Given the description of an element on the screen output the (x, y) to click on. 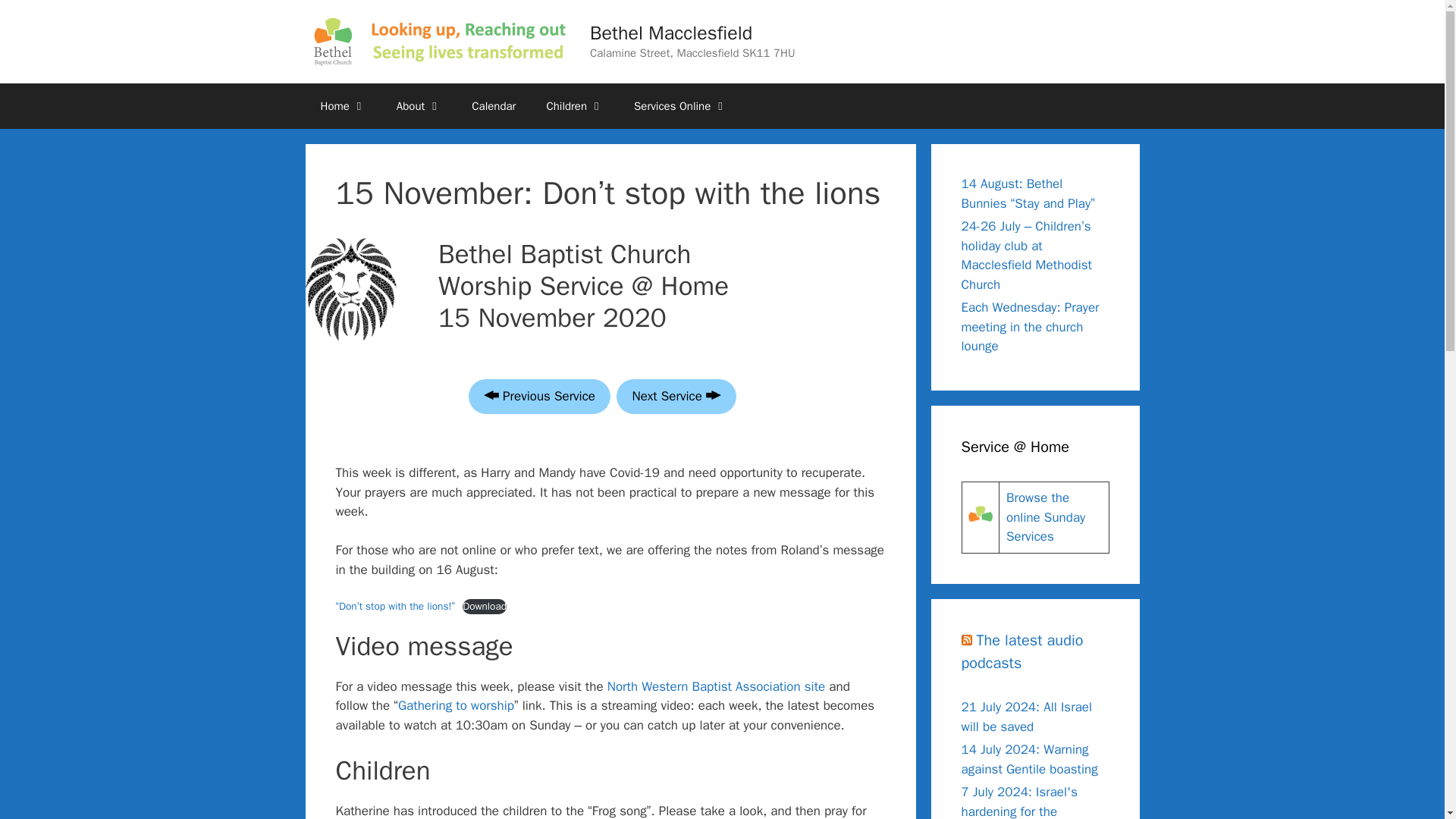
Next Service (675, 396)
21 July 2024: All Israel will be saved (1026, 716)
Calendar (494, 105)
Each Wednesday: Prayer meeting in the church lounge (1029, 326)
North Western Baptist Association site (716, 686)
Home (342, 105)
Bethel Macclesfield (670, 33)
The latest audio podcasts (1021, 651)
Children (574, 105)
Previous Service (539, 396)
Download (484, 606)
Gathering to worship (455, 705)
Services Online (680, 105)
About (419, 105)
Browse the online Sunday Services (1045, 516)
